Given the description of an element on the screen output the (x, y) to click on. 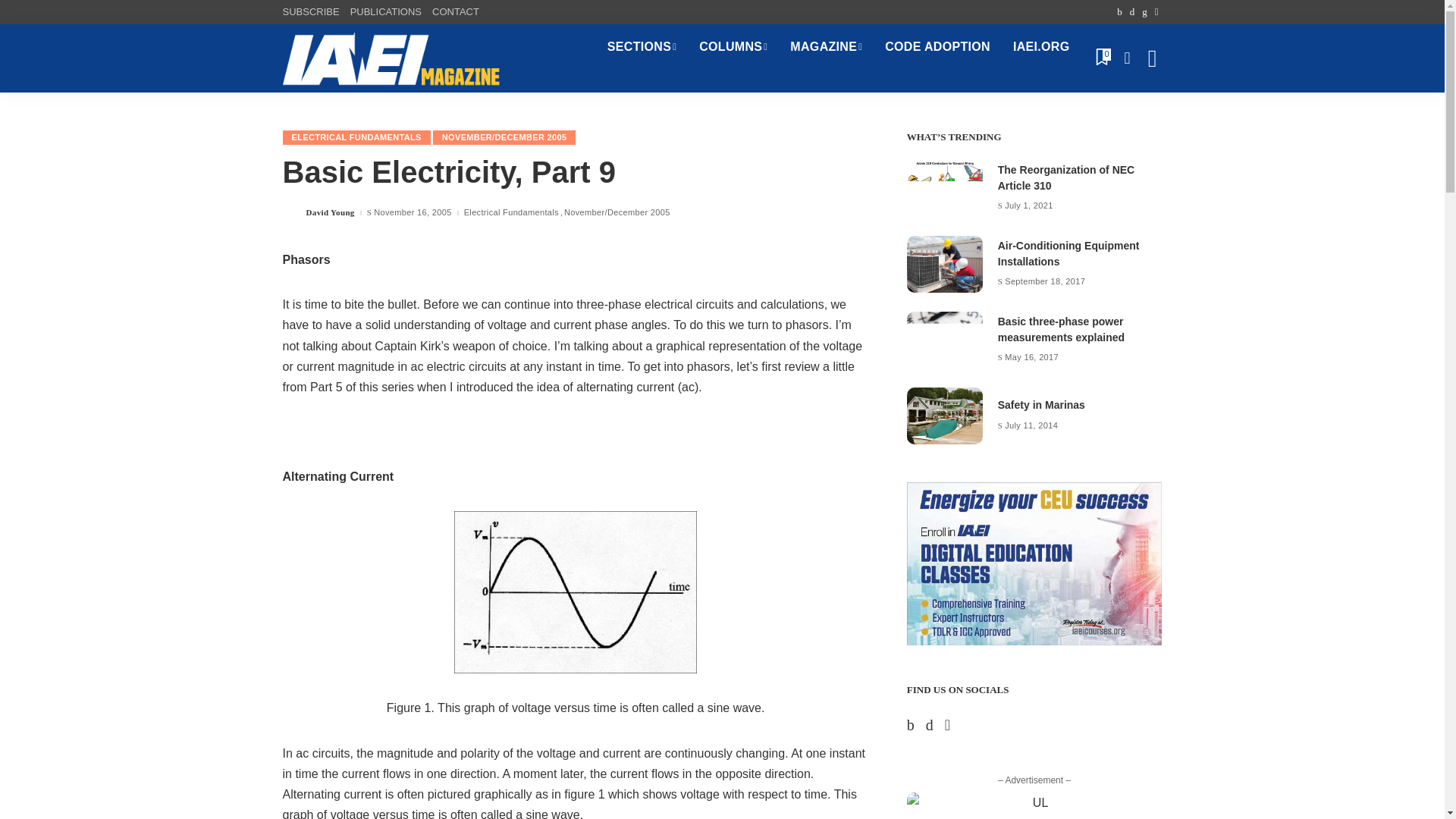
SUBSCRIBE (312, 11)
PUBLICATIONS (385, 11)
IAEI Magazine (391, 58)
CONTACT (455, 11)
